Given the description of an element on the screen output the (x, y) to click on. 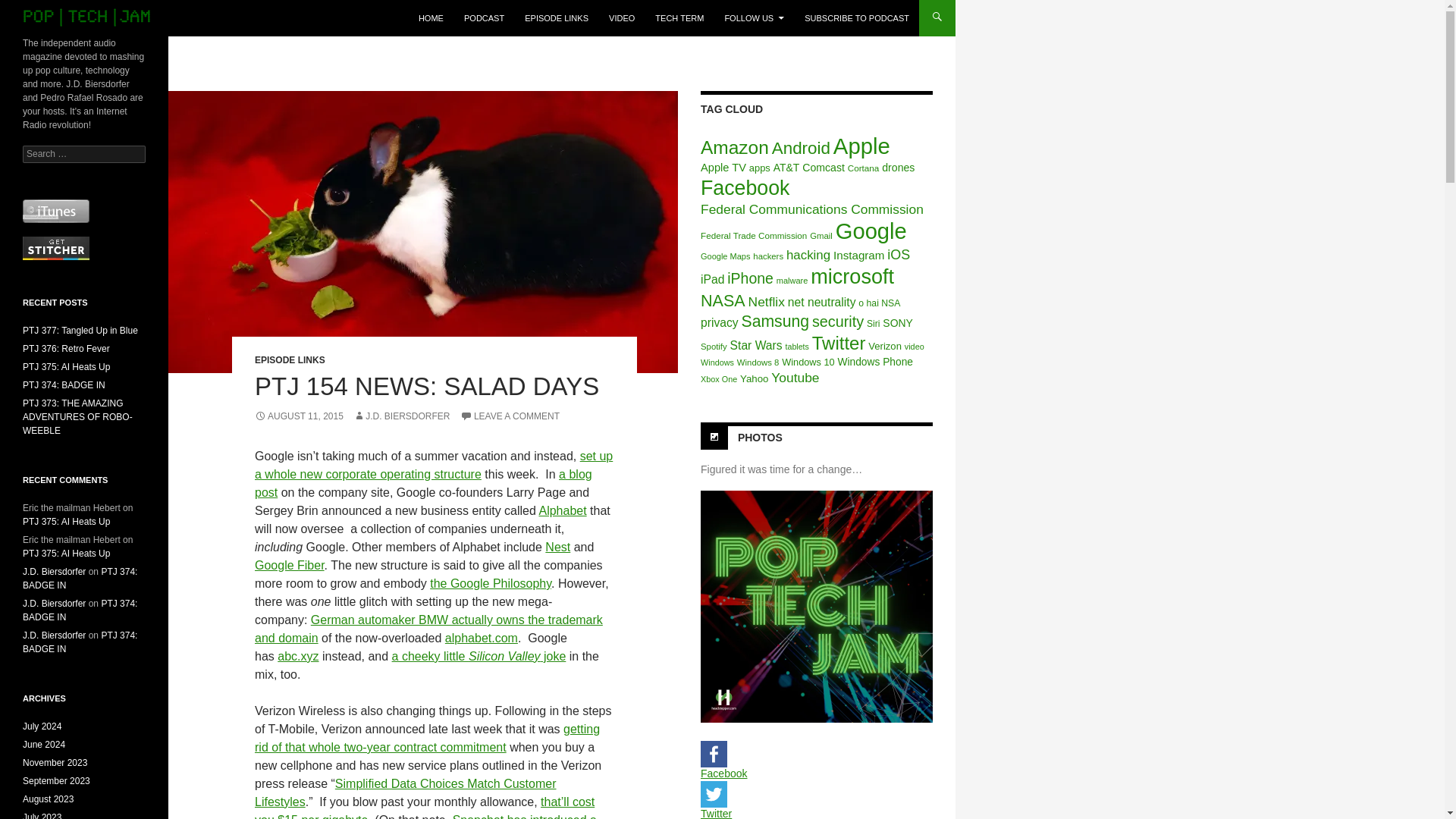
SUBSCRIBE TO PODCAST (856, 18)
PODCAST (483, 18)
EPISODE LINKS (289, 359)
the Google Philosophy (490, 583)
VIDEO (621, 18)
, Snapchat has introduced a new Travel Mode (425, 816)
a cheeky little Silicon Valley joke (478, 656)
FOLLOW US (753, 18)
getting rid of that whole two-year contract commitment (426, 737)
Nest (557, 546)
